Given the description of an element on the screen output the (x, y) to click on. 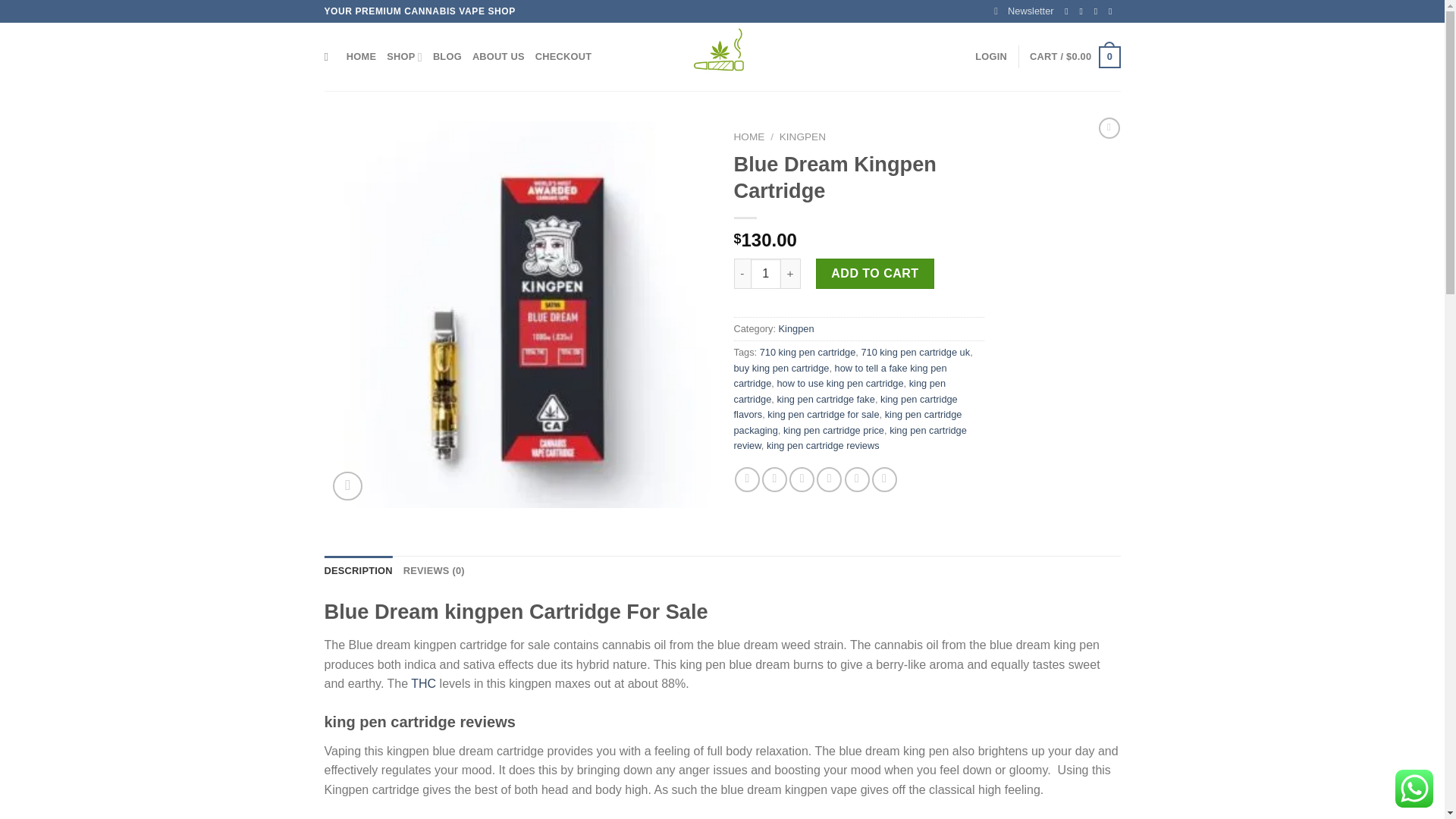
LOGIN (991, 56)
Qty (765, 273)
HOME (360, 56)
CHECKOUT (563, 56)
Newsletter (1023, 11)
BLOG (446, 56)
Legal Canna Vapes - Buy Cannabis V Online (721, 56)
1 (765, 273)
ABOUT US (497, 56)
